Given the description of an element on the screen output the (x, y) to click on. 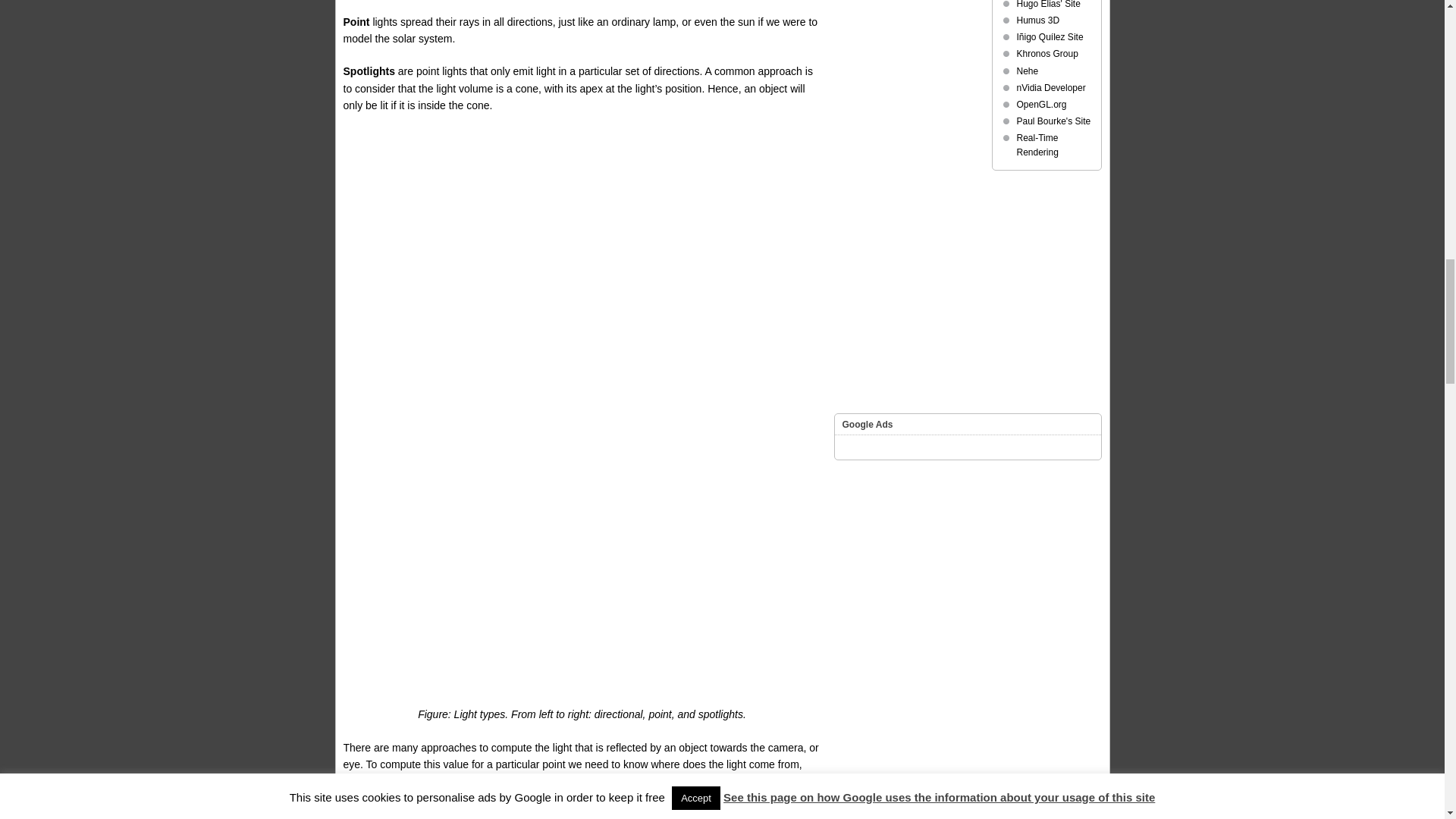
lights (581, 516)
Advertisement (581, 235)
